Given the description of an element on the screen output the (x, y) to click on. 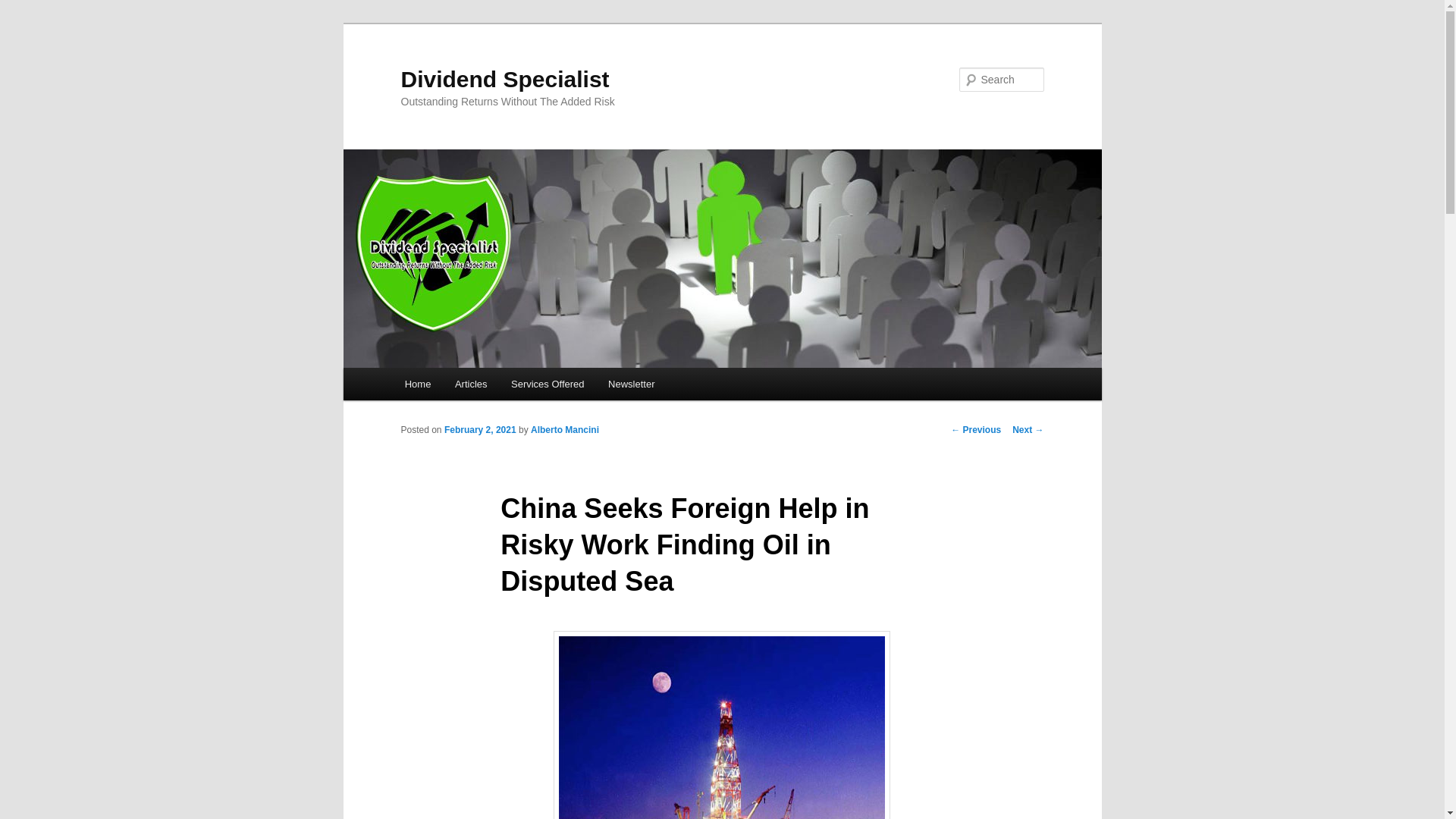
View all posts by Alberto Mancini (564, 429)
5:45 am (480, 429)
Home (417, 383)
February 2, 2021 (480, 429)
Dividend Specialist (504, 78)
Newsletter (630, 383)
Articles (470, 383)
Services Offered (547, 383)
Alberto Mancini (564, 429)
Search (24, 8)
